Given the description of an element on the screen output the (x, y) to click on. 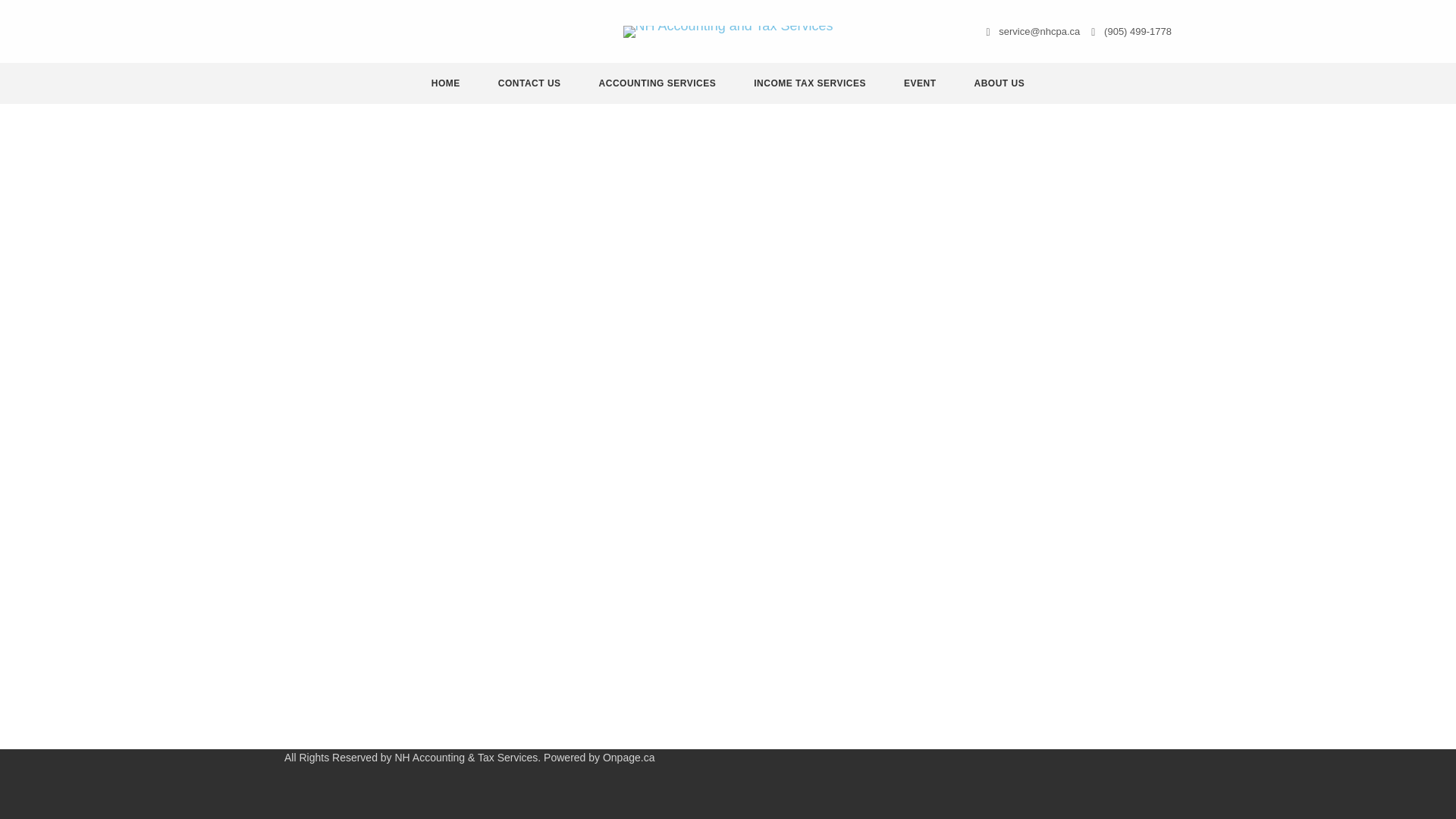
Onpage.ca (628, 757)
ABOUT US (999, 83)
CONTACT US (529, 83)
HOME (445, 83)
ACCOUNTING SERVICES (658, 83)
INCOME TAX SERVICES (809, 83)
EVENT (919, 83)
